Given the description of an element on the screen output the (x, y) to click on. 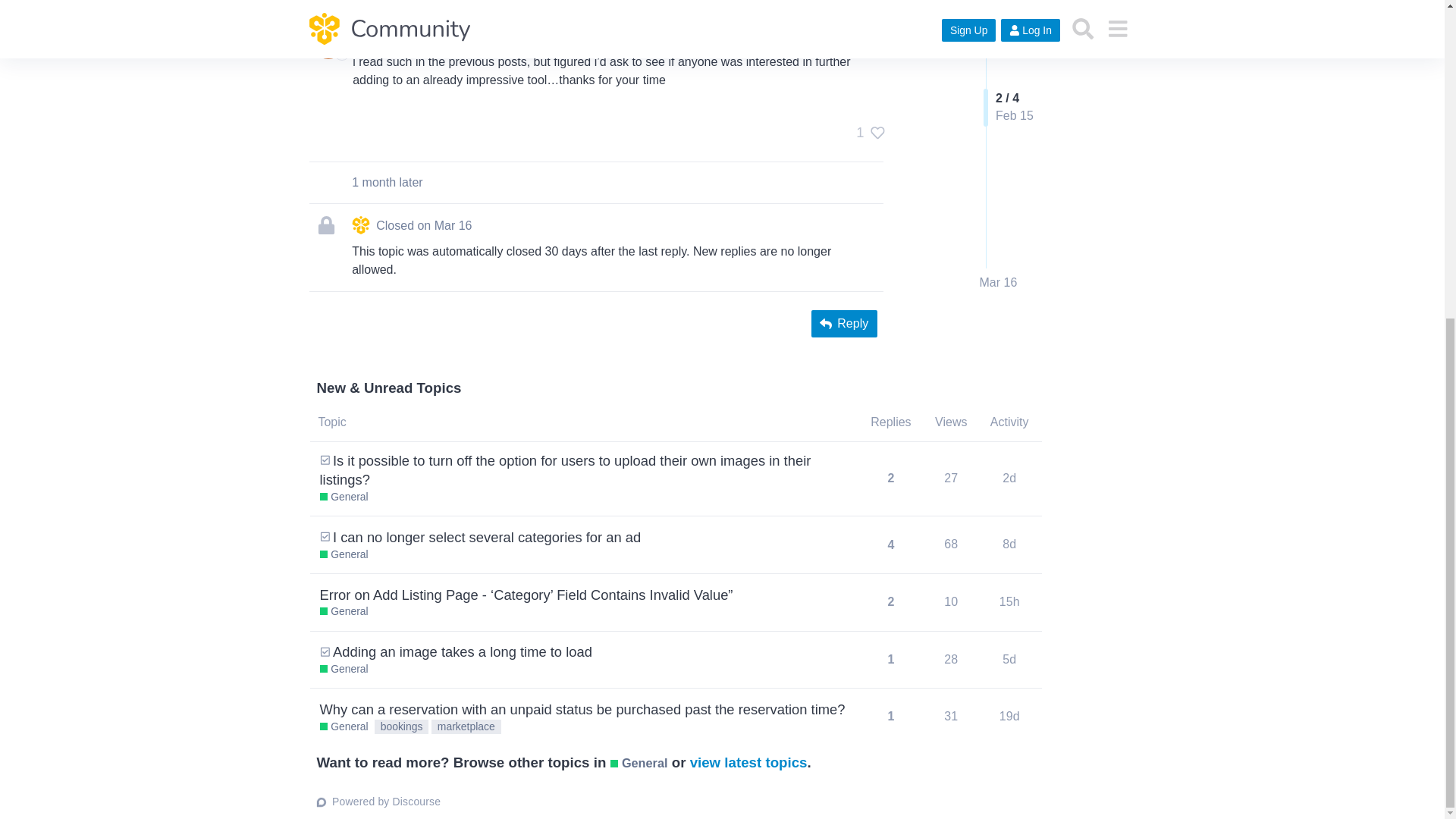
Reply (843, 323)
1 (865, 132)
juan123 (374, 29)
Feb 15 (857, 29)
General (344, 497)
I can no longer select several categories for an ad (486, 536)
